Given the description of an element on the screen output the (x, y) to click on. 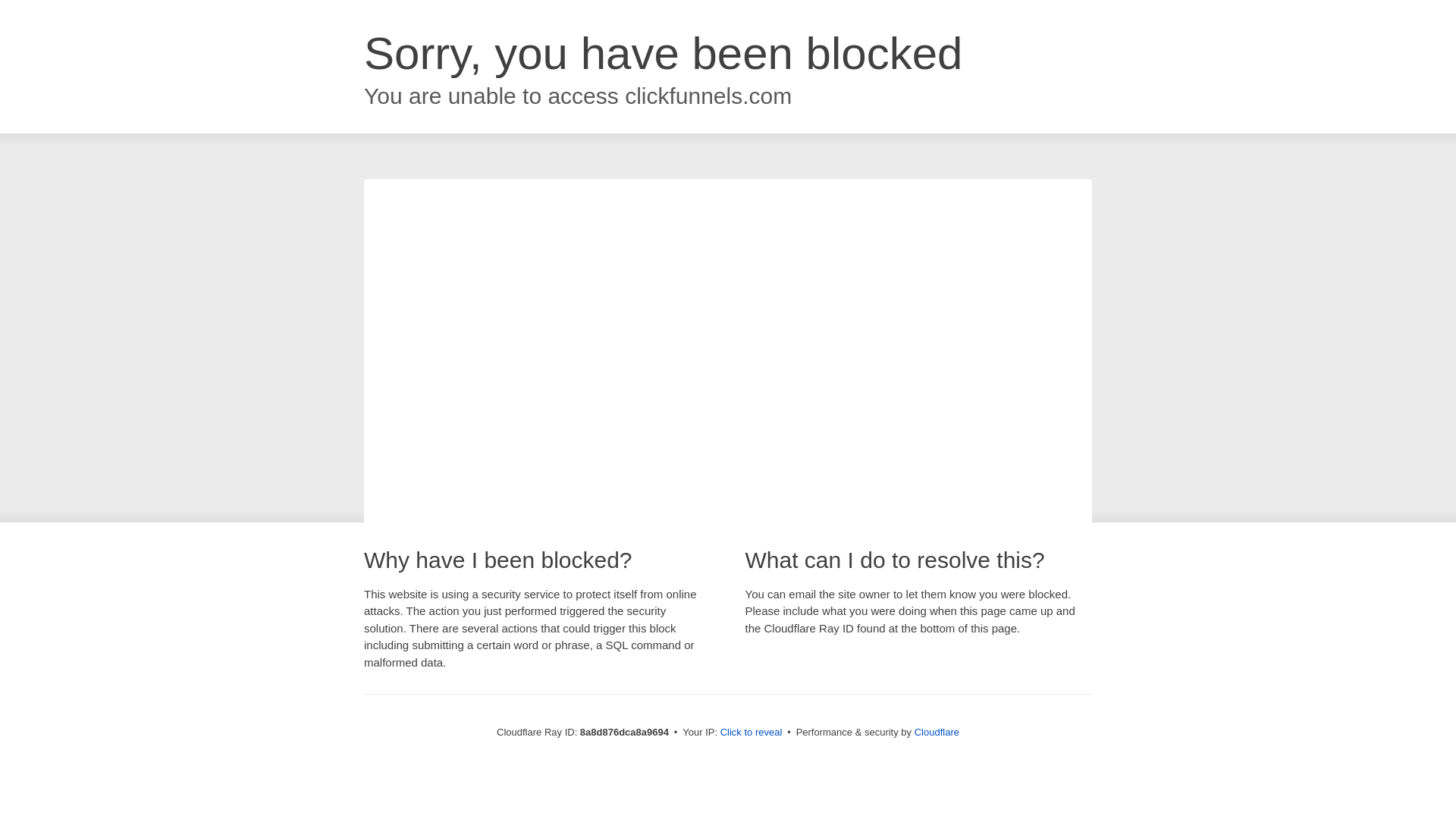
Cloudflare (936, 731)
Click to reveal (751, 732)
